Given the description of an element on the screen output the (x, y) to click on. 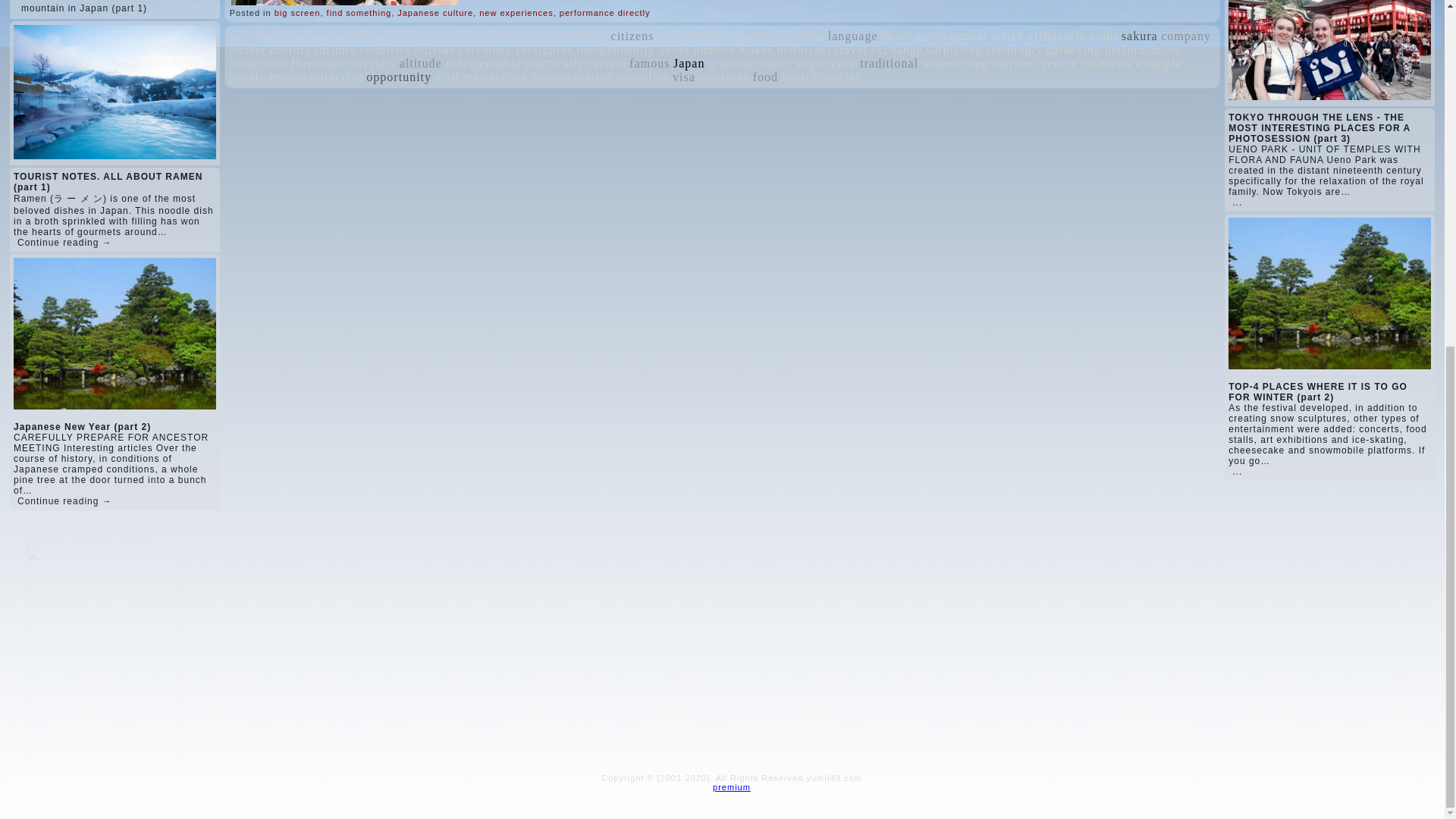
big screen (297, 12)
new experiences (516, 12)
Japanese culture (435, 12)
performance directly (604, 12)
find something (358, 12)
surprised (254, 35)
